Given the description of an element on the screen output the (x, y) to click on. 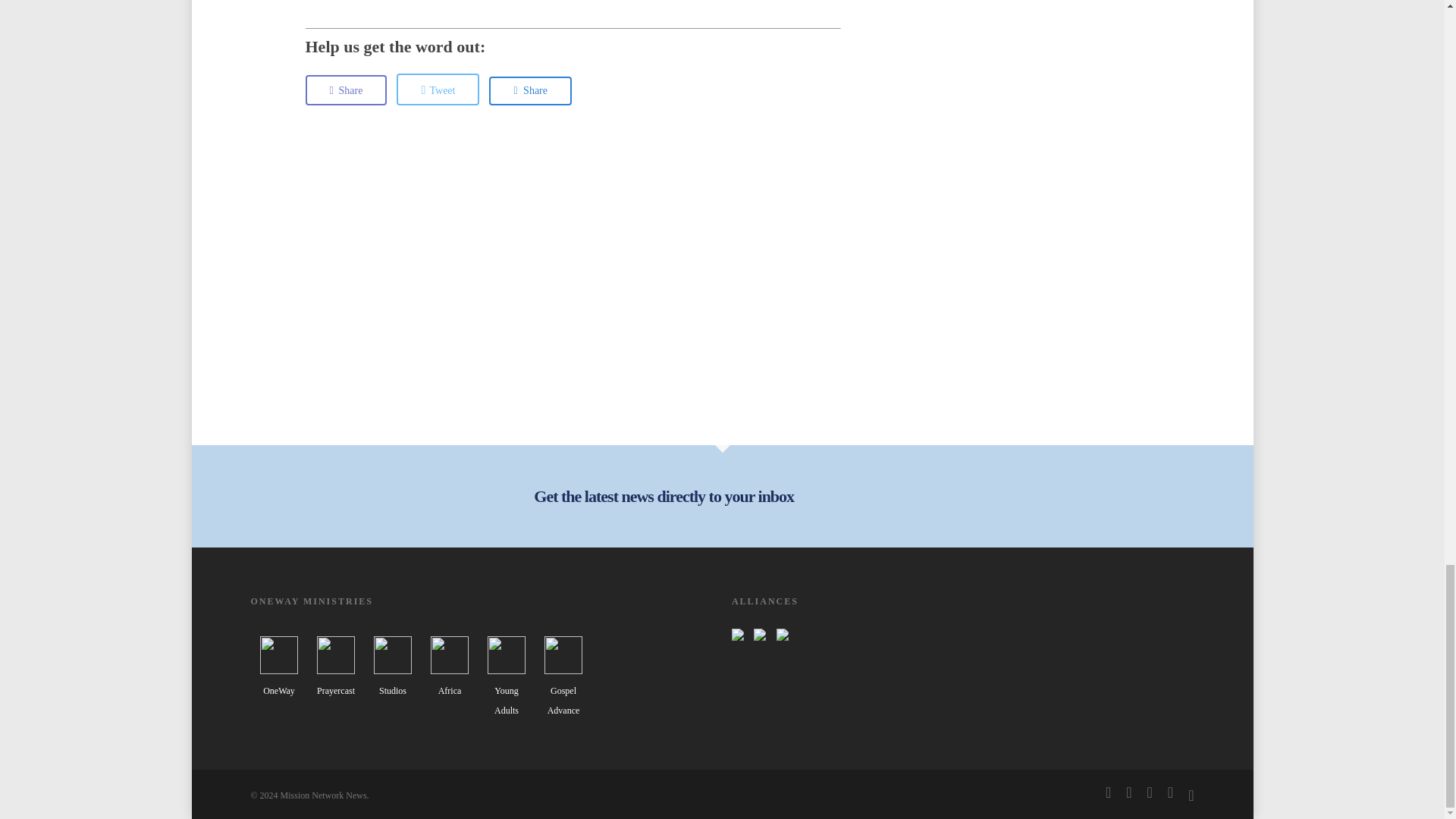
Share this (345, 90)
Tweet this (437, 89)
Share this (530, 90)
